Given the description of an element on the screen output the (x, y) to click on. 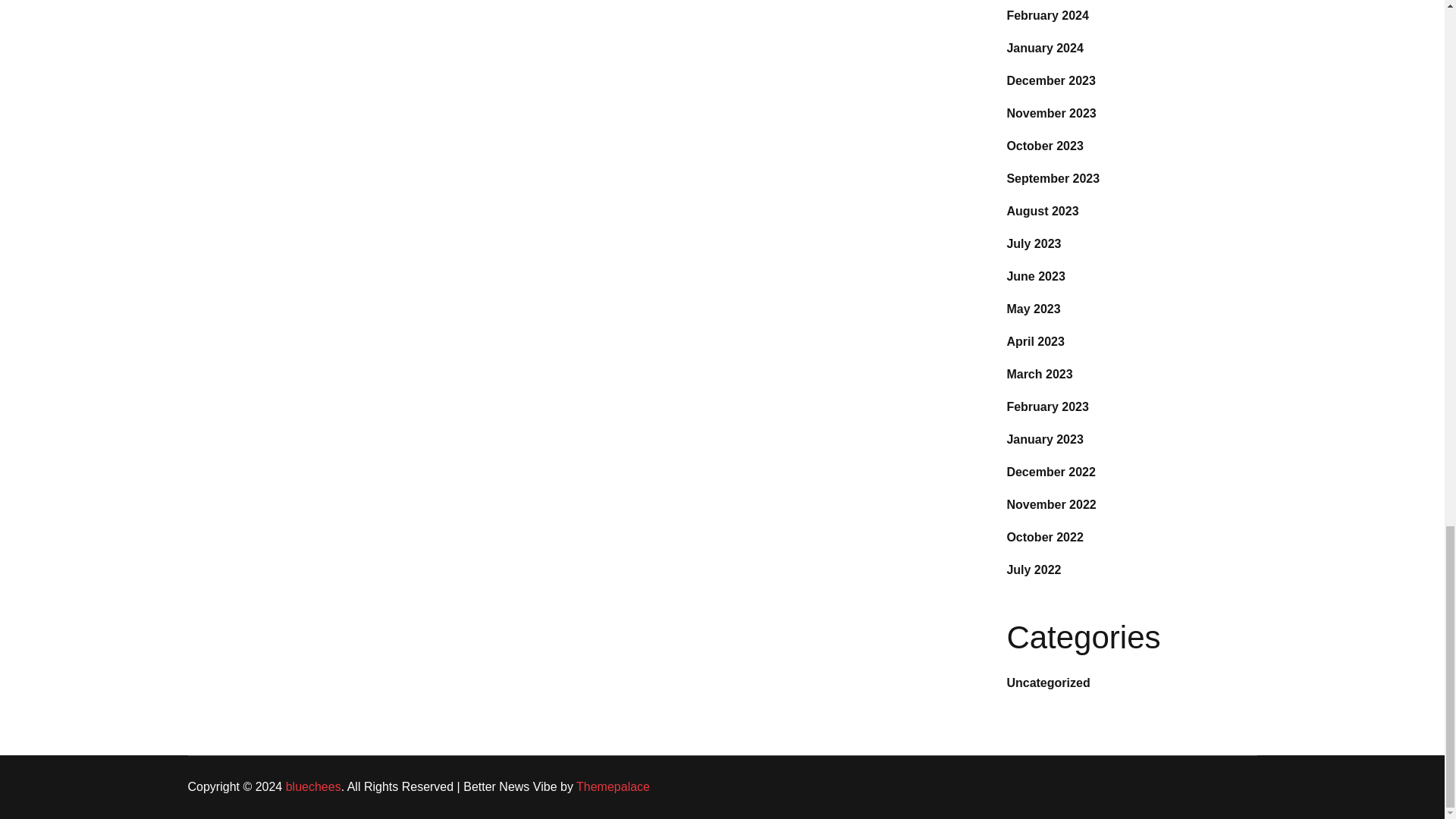
December 2023 (1050, 80)
May 2023 (1032, 308)
September 2023 (1052, 178)
February 2023 (1047, 406)
October 2023 (1044, 145)
January 2024 (1044, 47)
August 2023 (1042, 210)
January 2023 (1044, 439)
April 2023 (1035, 341)
December 2022 (1050, 472)
